Given the description of an element on the screen output the (x, y) to click on. 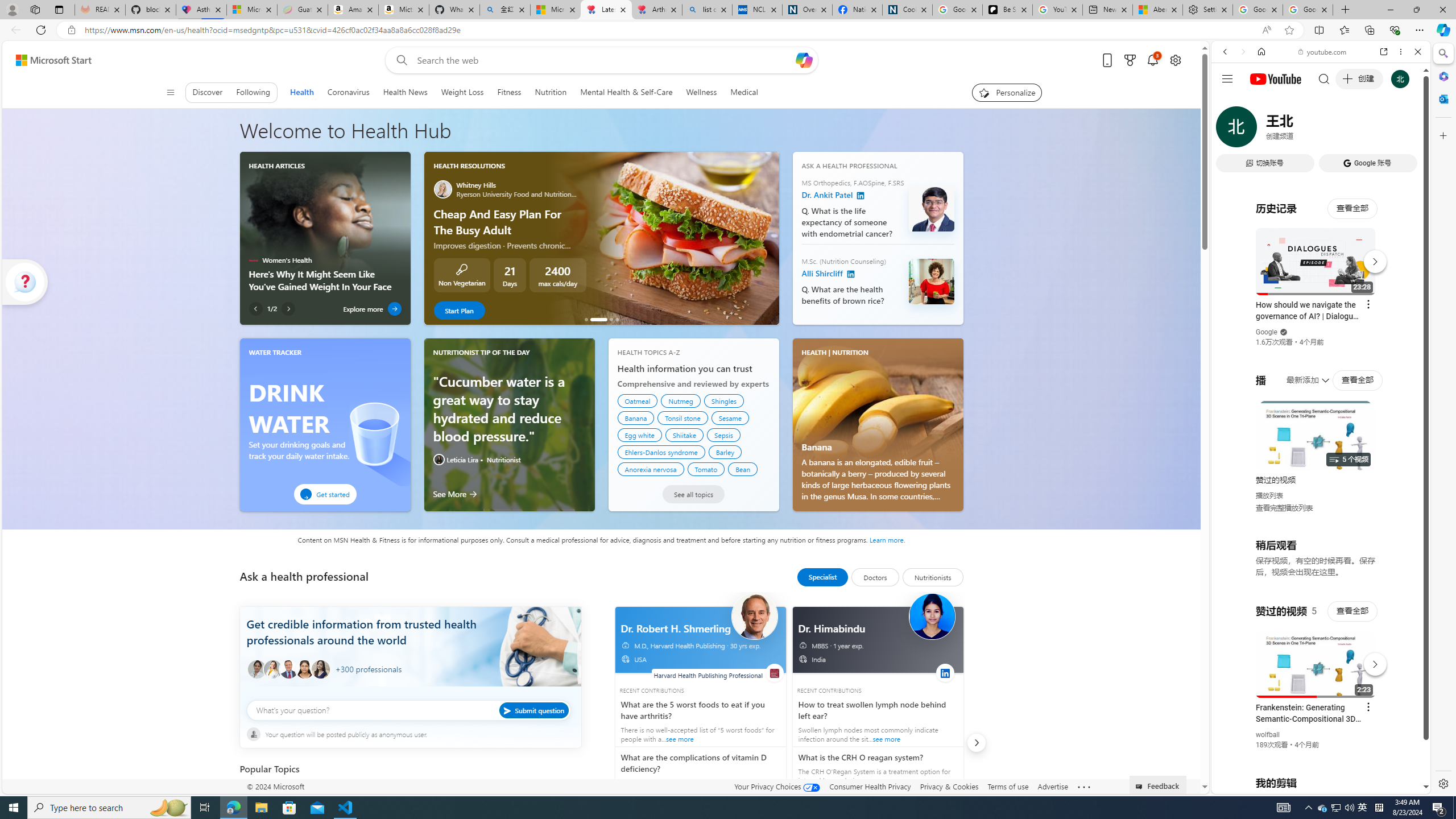
#you (1315, 659)
US[ju] (1249, 785)
Click to scroll right (1407, 456)
Search videos from youtube.com (1299, 373)
Weight Loss (461, 92)
Coronavirus (348, 92)
Class: vecOut (801, 659)
Ehlers-Danlos syndrome (660, 451)
Class: dict_pnIcon rms_img (1312, 784)
Microsoft rewards (1129, 60)
